Given the description of an element on the screen output the (x, y) to click on. 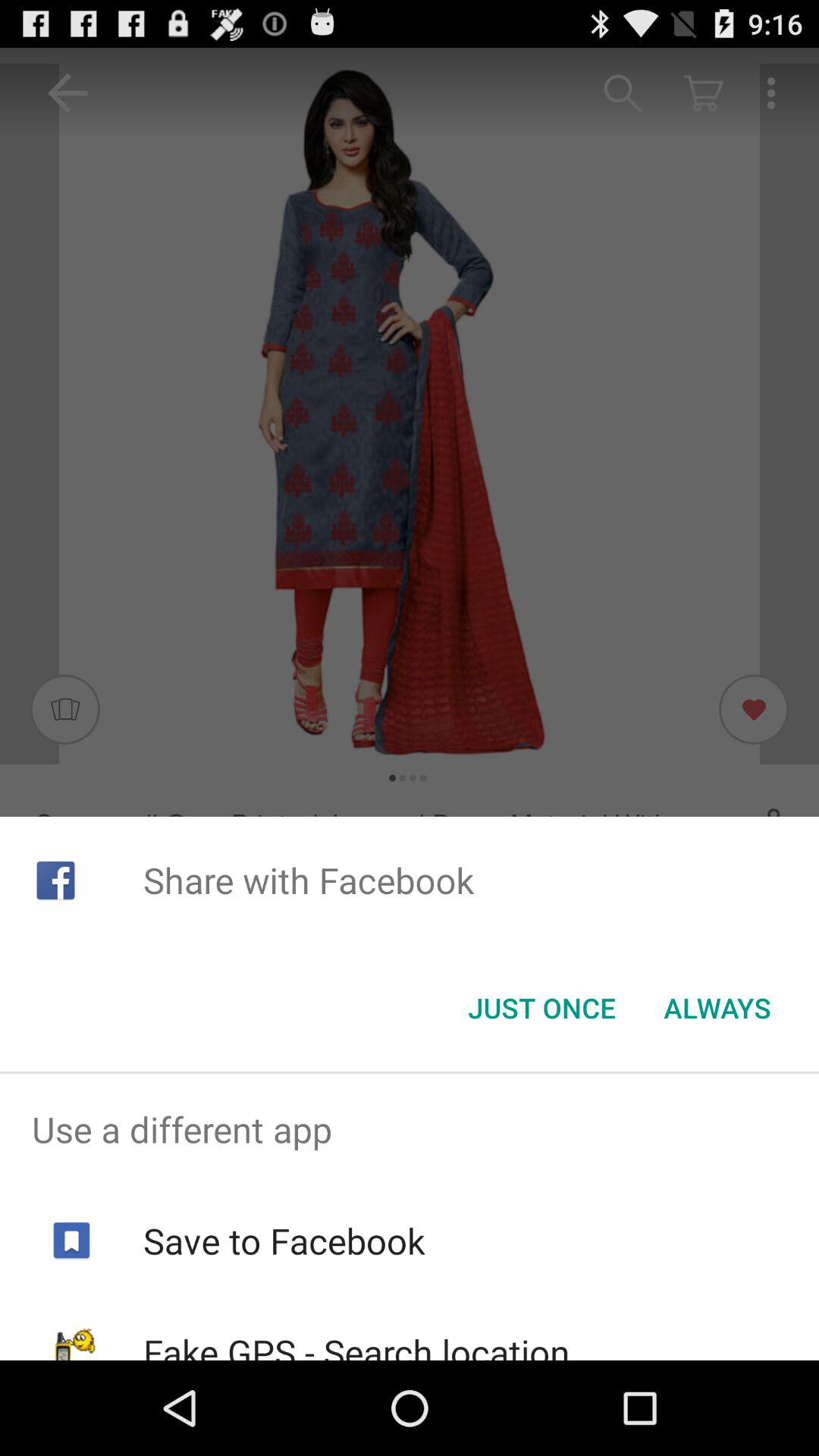
tap the save to facebook icon (284, 1240)
